Given the description of an element on the screen output the (x, y) to click on. 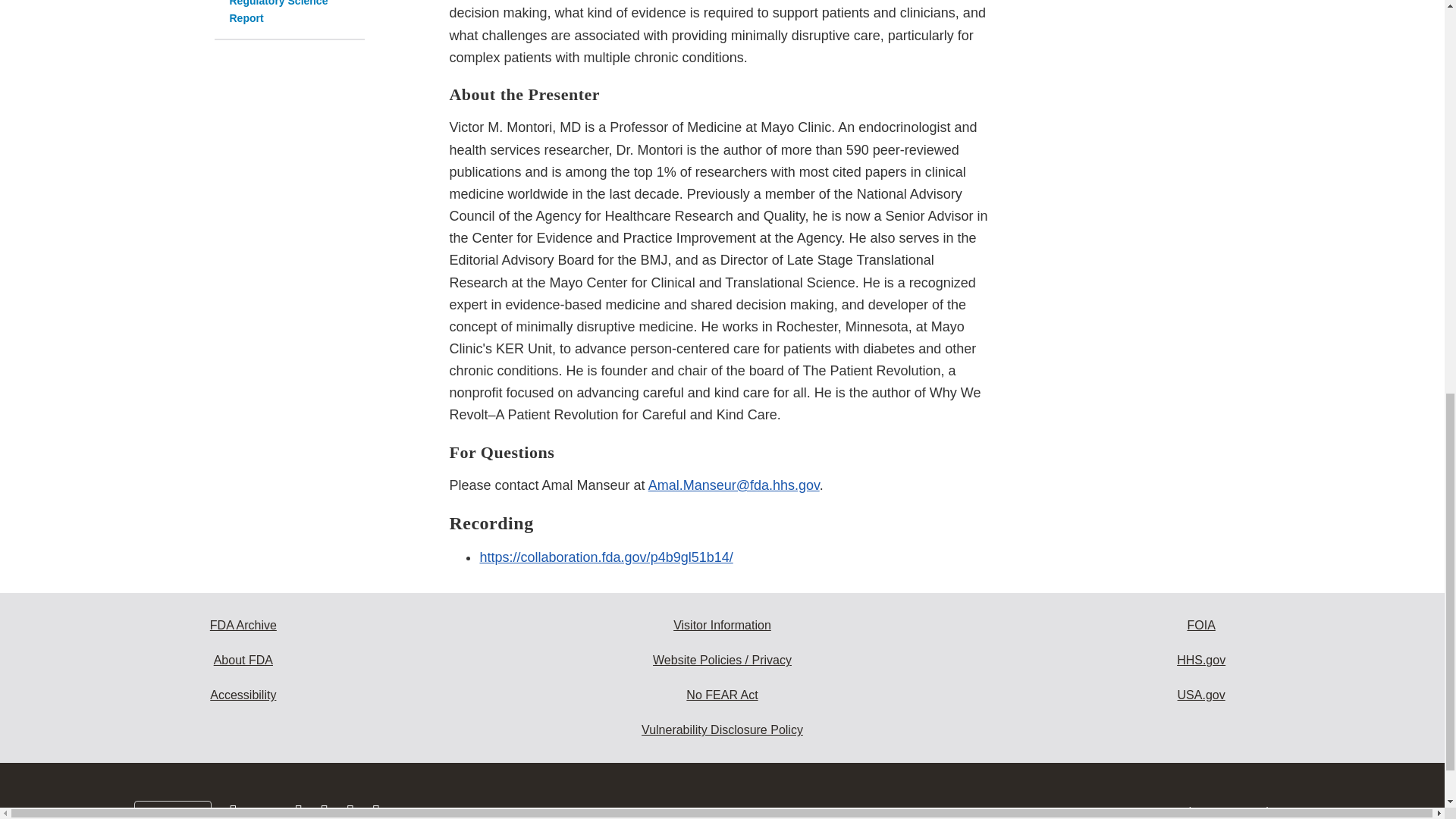
Subscribe to FDA RSS feeds (376, 814)
Follow FDA on Instagram (299, 814)
Follow FDA on X (266, 814)
Follow FDA on LinkedIn (326, 814)
Health and Human Services (1200, 660)
Freedom of Information Act (1200, 625)
Follow FDA on Facebook (234, 814)
View FDA videos on YouTube (352, 814)
